Given the description of an element on the screen output the (x, y) to click on. 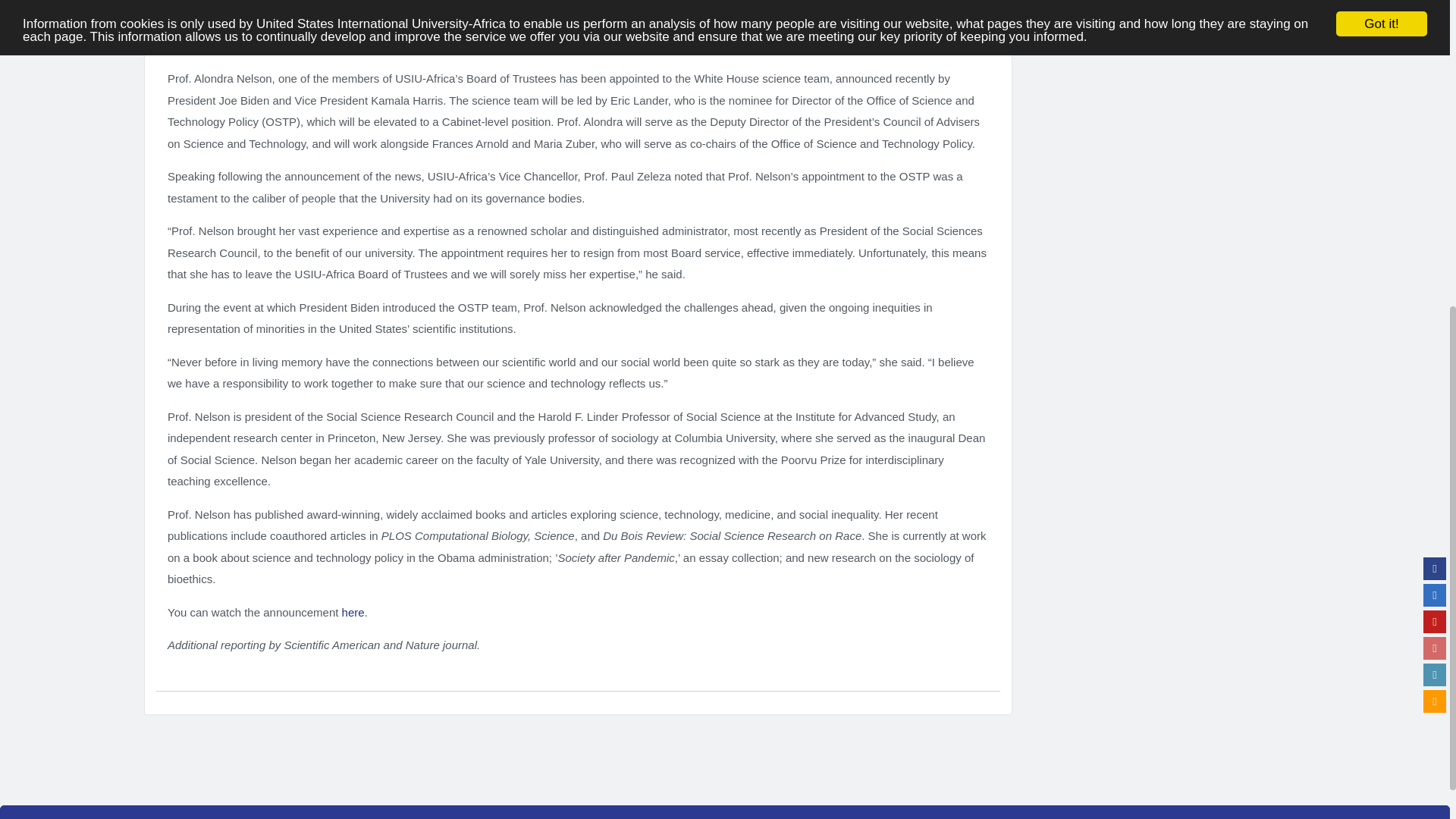
Facebook (1434, 49)
YouTube (1434, 102)
X (1434, 76)
Instagram (1434, 128)
Talk to us (1434, 182)
LinkedIn (1434, 155)
